Given the description of an element on the screen output the (x, y) to click on. 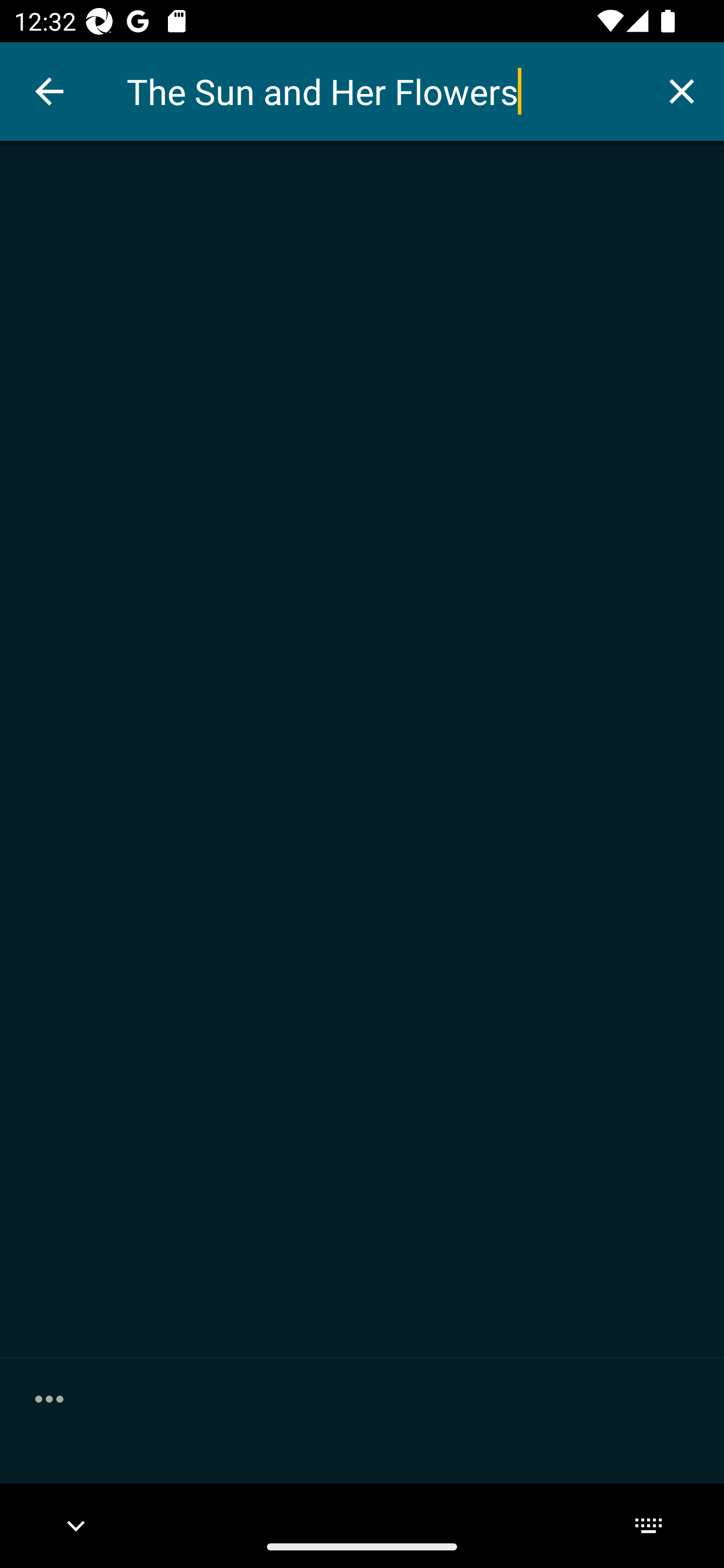
Back (49, 91)
The Sun and Her Flowers (382, 91)
Clear (681, 90)
Clear history (49, 1398)
